Given the description of an element on the screen output the (x, y) to click on. 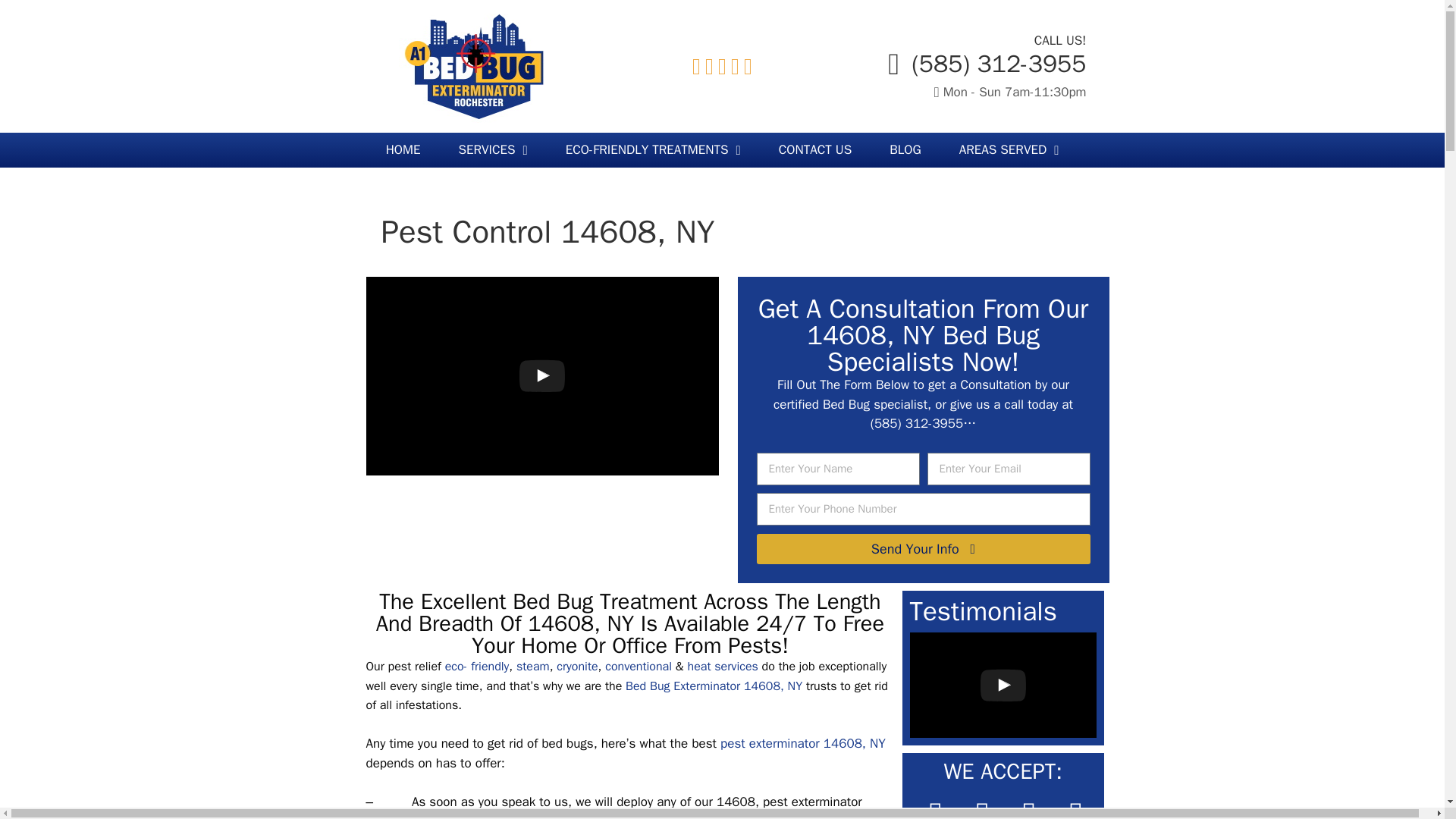
CONTACT US (815, 149)
ECO-FRIENDLY TREATMENTS (653, 149)
AREAS SERVED (1009, 149)
BLOG (904, 149)
HOME (402, 149)
SERVICES (493, 149)
